Given the description of an element on the screen output the (x, y) to click on. 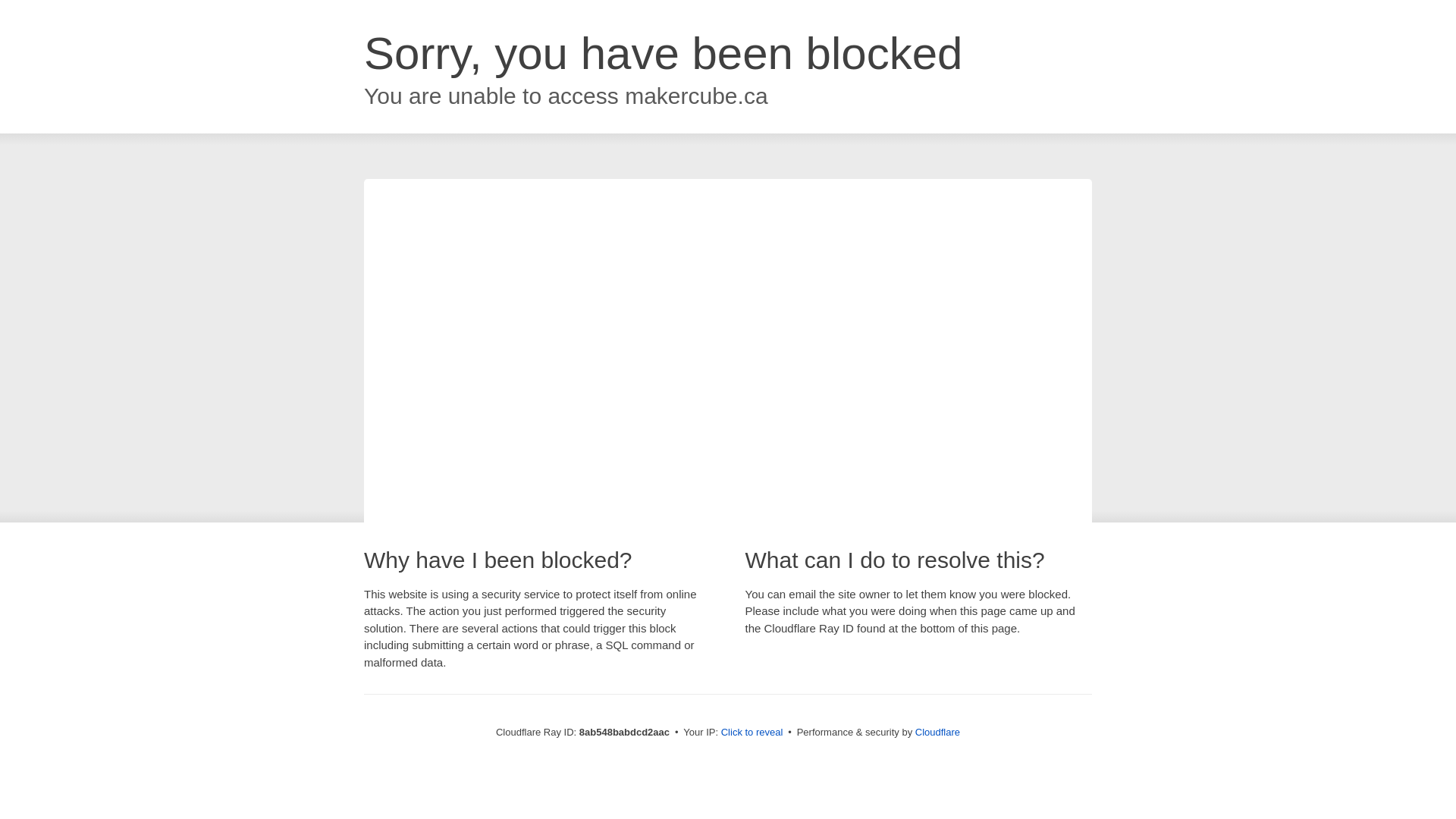
Cloudflare (937, 731)
Click to reveal (751, 732)
